Given the description of an element on the screen output the (x, y) to click on. 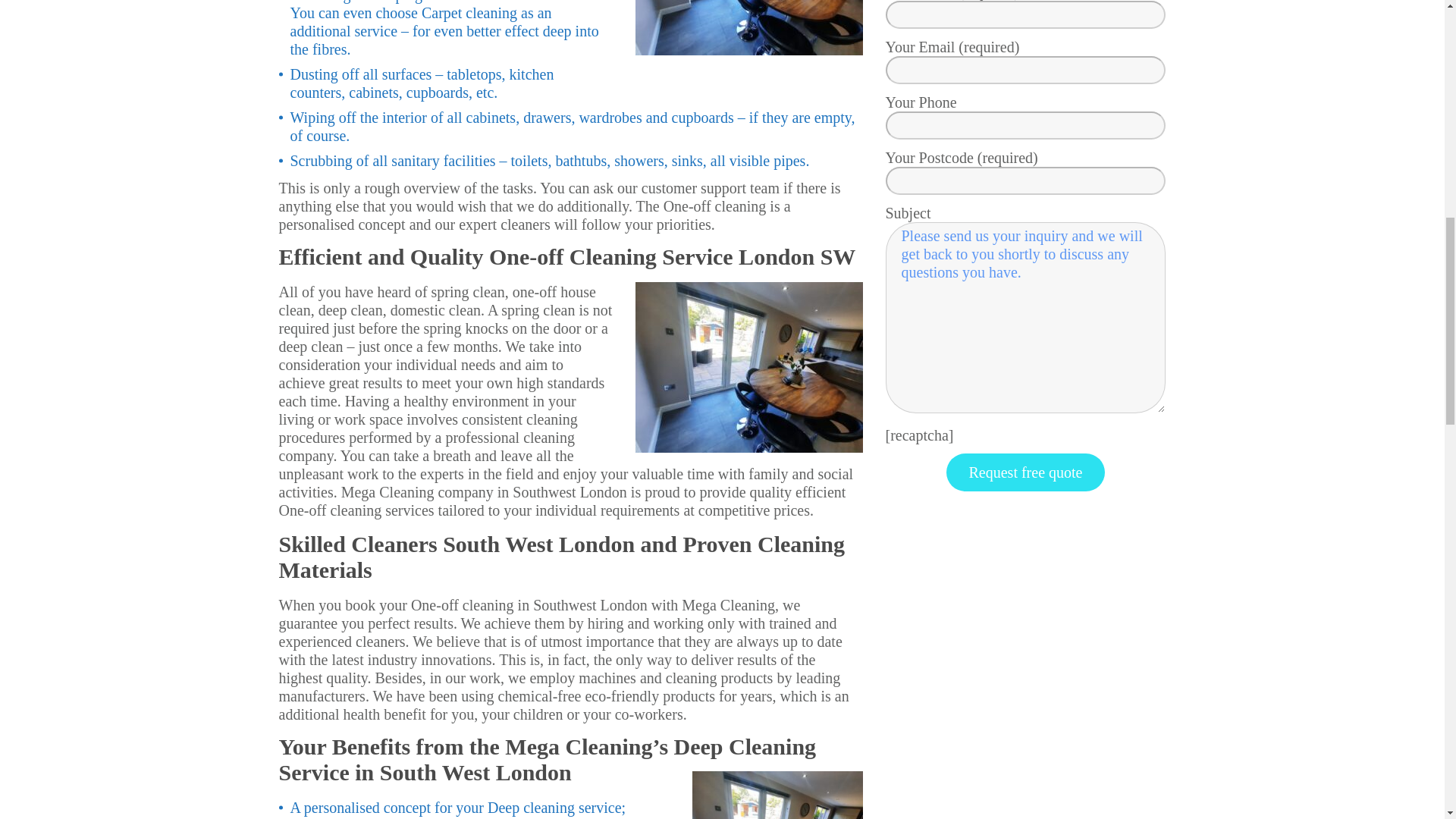
professional oven cleaning SW (748, 366)
Sparkle cleaning service London (776, 795)
Request free quote (1025, 472)
spring cleaning South West London (748, 27)
